Given the description of an element on the screen output the (x, y) to click on. 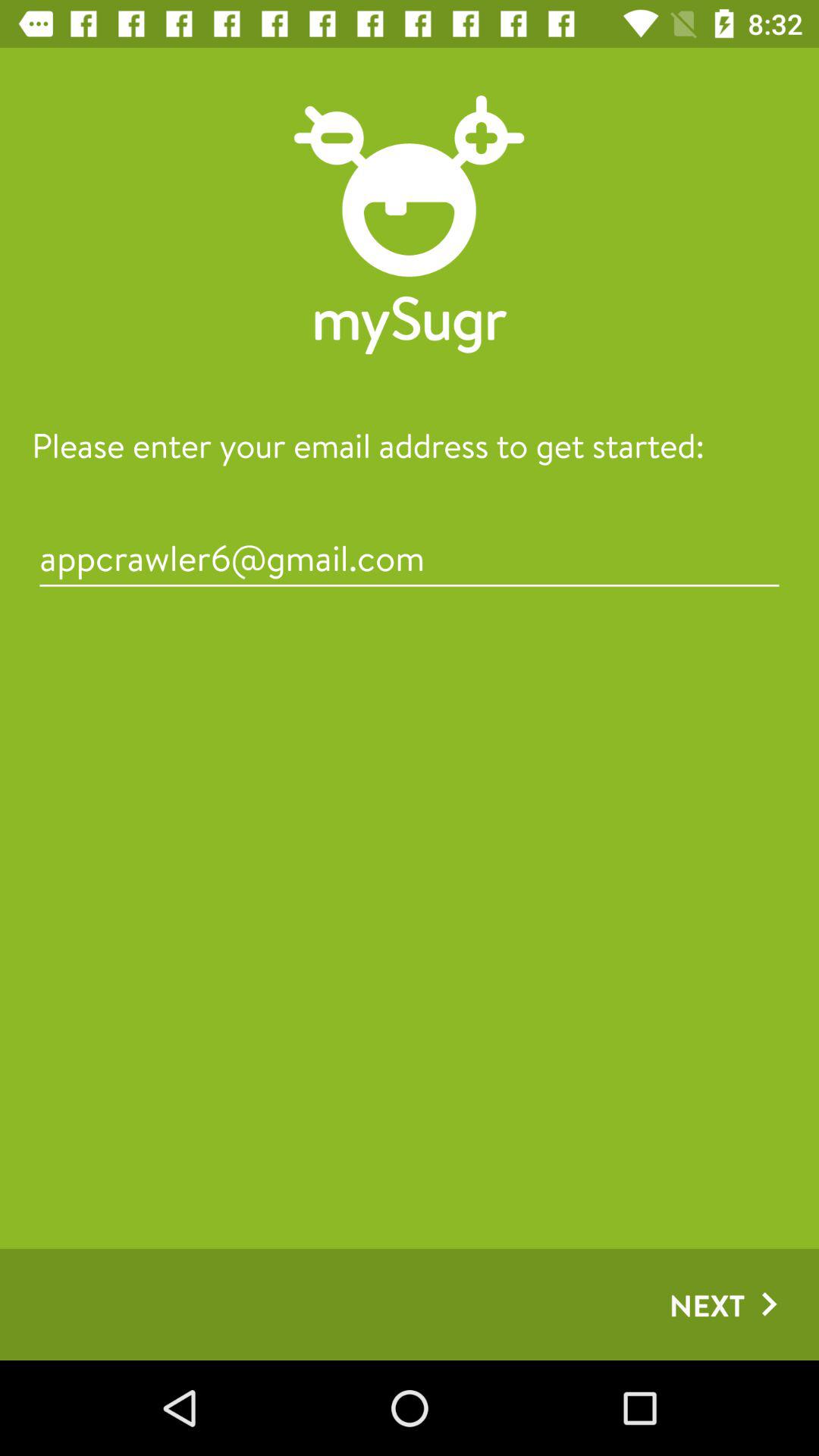
turn on item below the please enter your (409, 557)
